Given the description of an element on the screen output the (x, y) to click on. 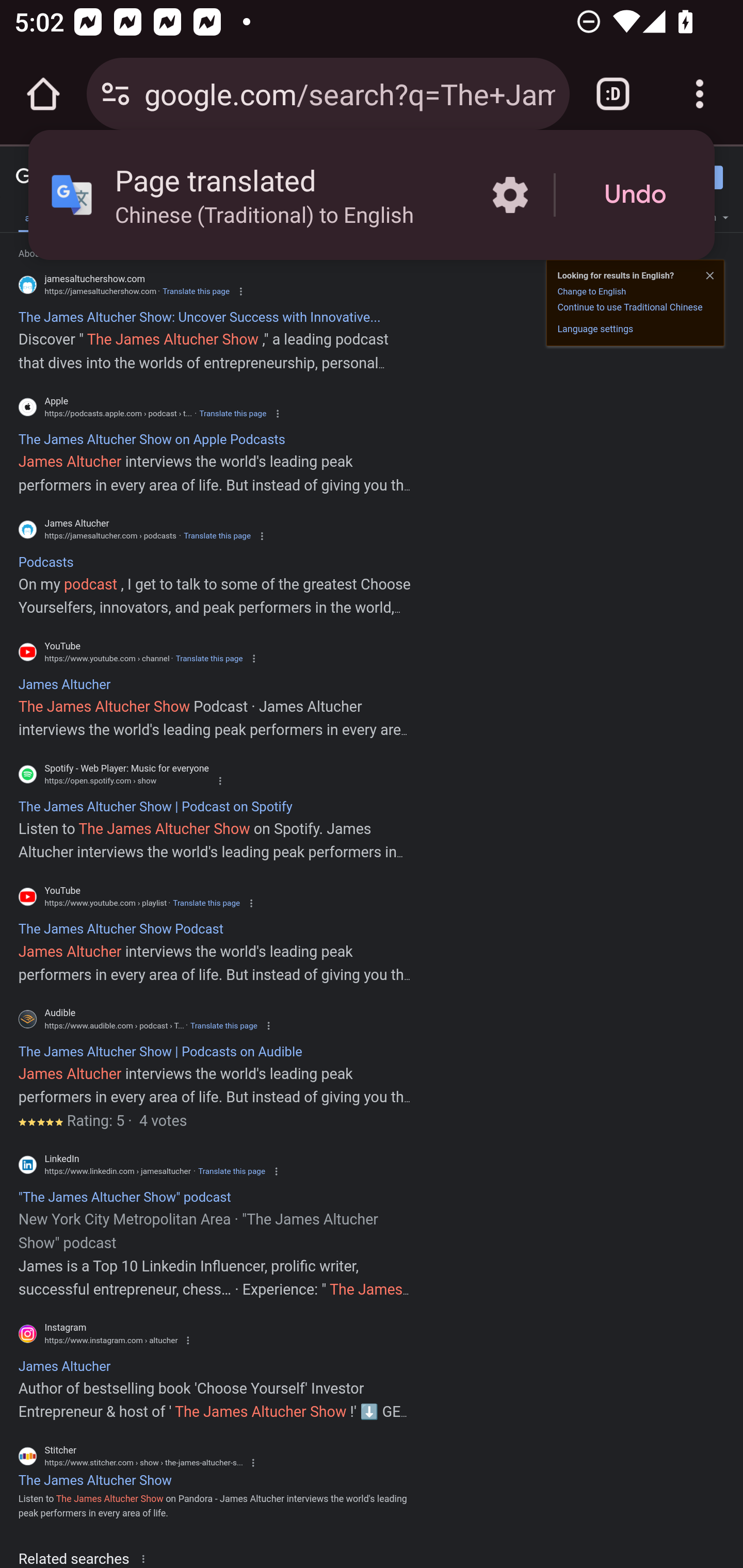
Open the home page (43, 93)
Connection is secure (115, 93)
Switch or close tabs (612, 93)
Customize and control Google Chrome (699, 93)
Undo (634, 195)
More options in the Page translated (509, 195)
Translate this page (195, 291)
Change to English (591, 291)
Language settings (595, 328)
Translate this page (232, 413)
Translate this page (217, 535)
Translate this page (208, 658)
Translate this page (206, 902)
Translate this page (223, 1025)
Translate this page (231, 1171)
About this result (146, 1557)
